Given the description of an element on the screen output the (x, y) to click on. 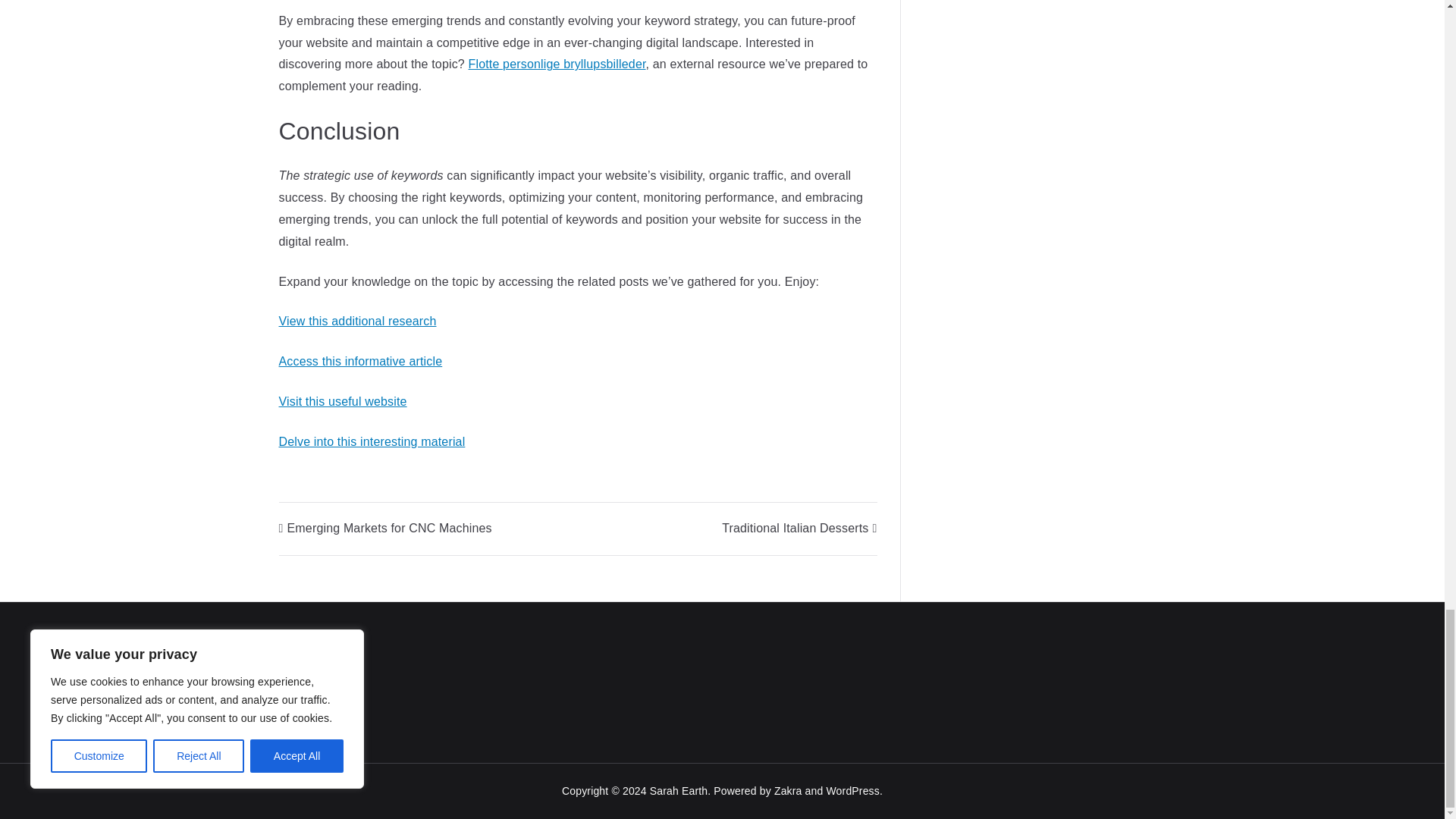
Delve into this interesting material (372, 440)
Zakra (788, 790)
Flotte personlige bryllupsbilleder (557, 63)
Visit this useful website (343, 400)
Sarah Earth (678, 790)
Access this informative article (360, 360)
Traditional Italian Desserts (799, 527)
WordPress (853, 790)
Emerging Markets for CNC Machines (385, 527)
View this additional research (357, 320)
